Given the description of an element on the screen output the (x, y) to click on. 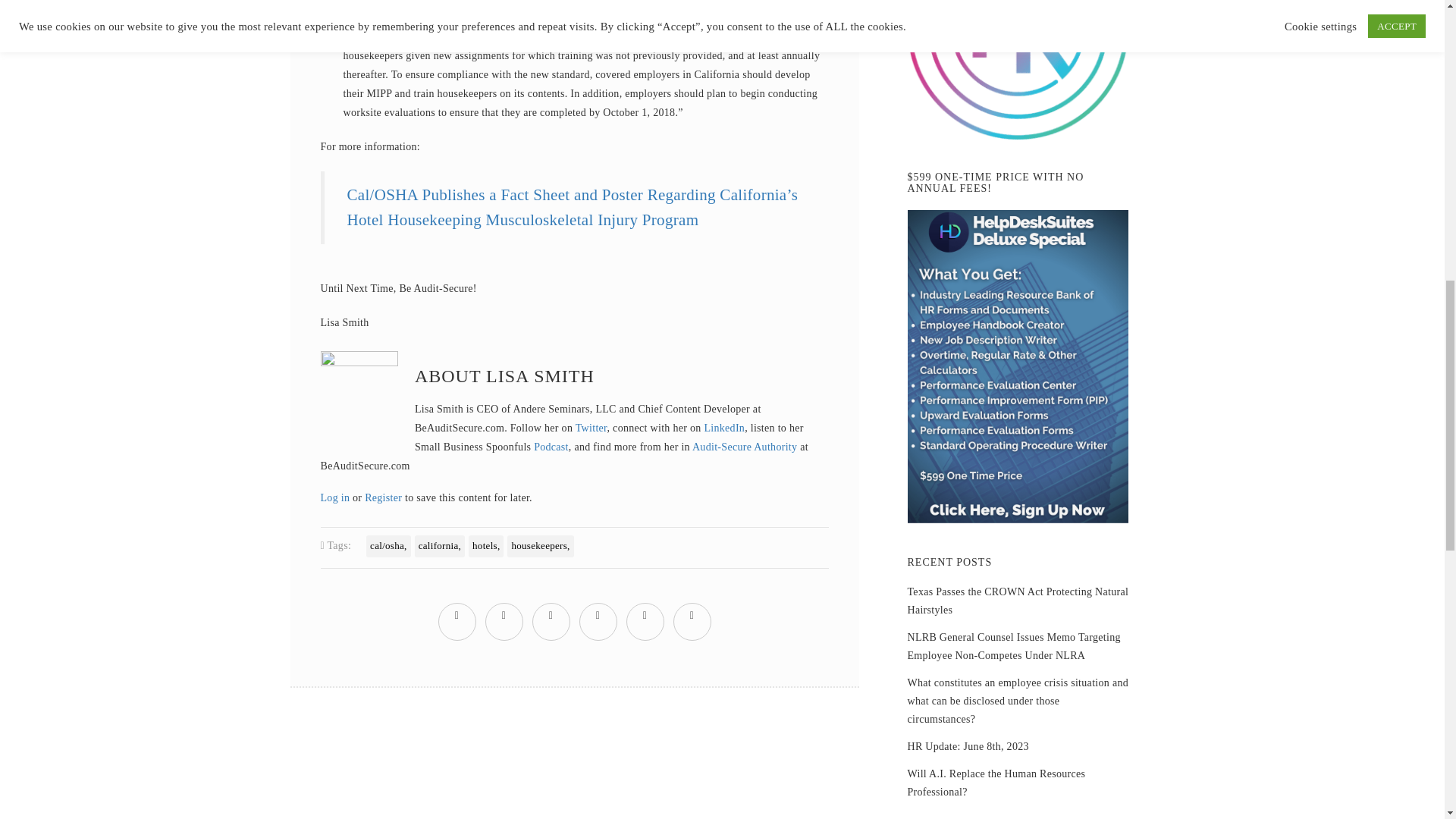
facebook (503, 614)
Join Boss Calls and Do HR like a Boss! (1017, 69)
